Given the description of an element on the screen output the (x, y) to click on. 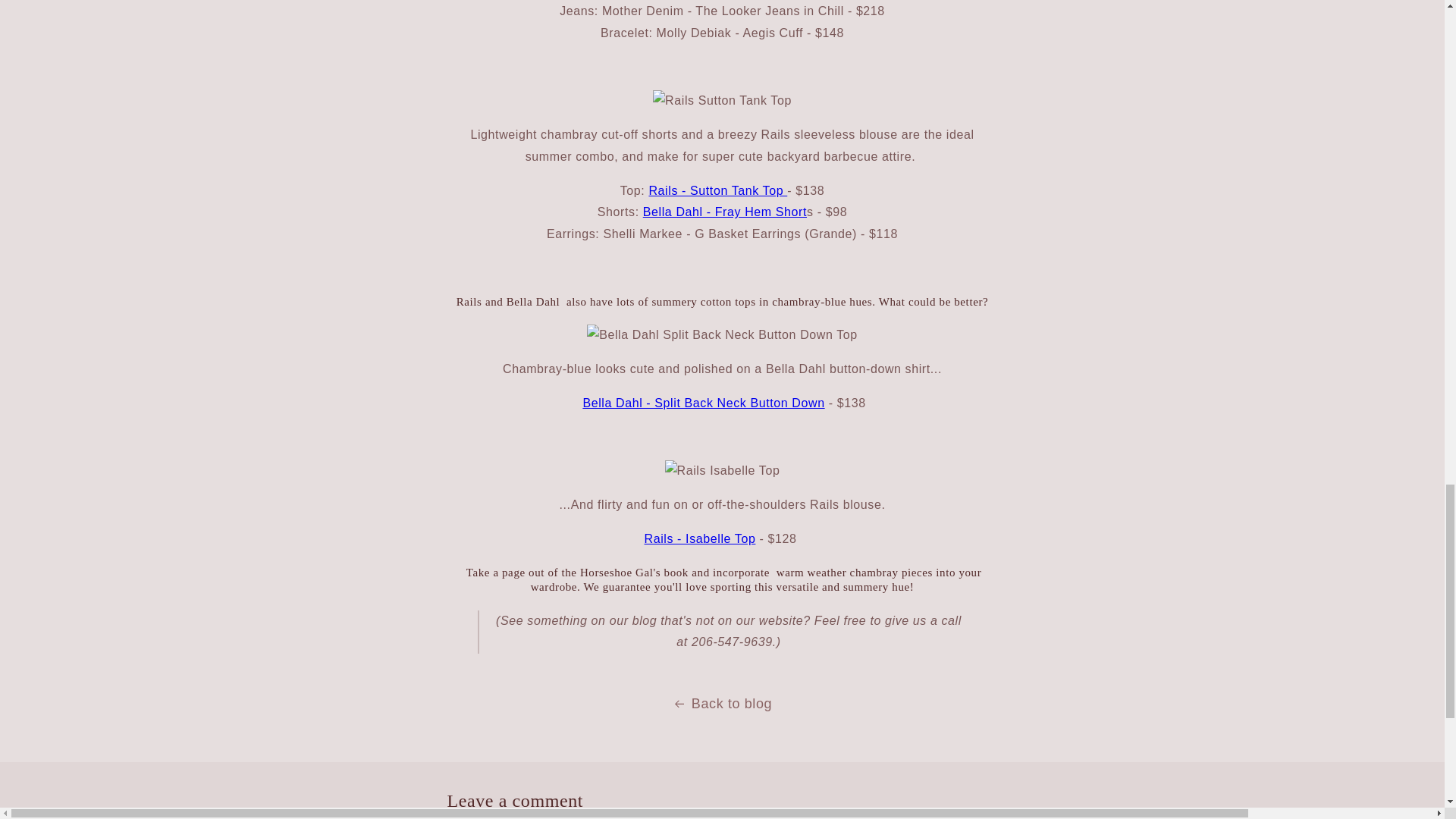
Bella Dahl - Split Back Neck Button Down (703, 402)
Bella Dahl - Fray Hem Short (724, 211)
Rails - Isabelle Top (700, 538)
Rails - Sutton Tank Top (717, 190)
